Given the description of an element on the screen output the (x, y) to click on. 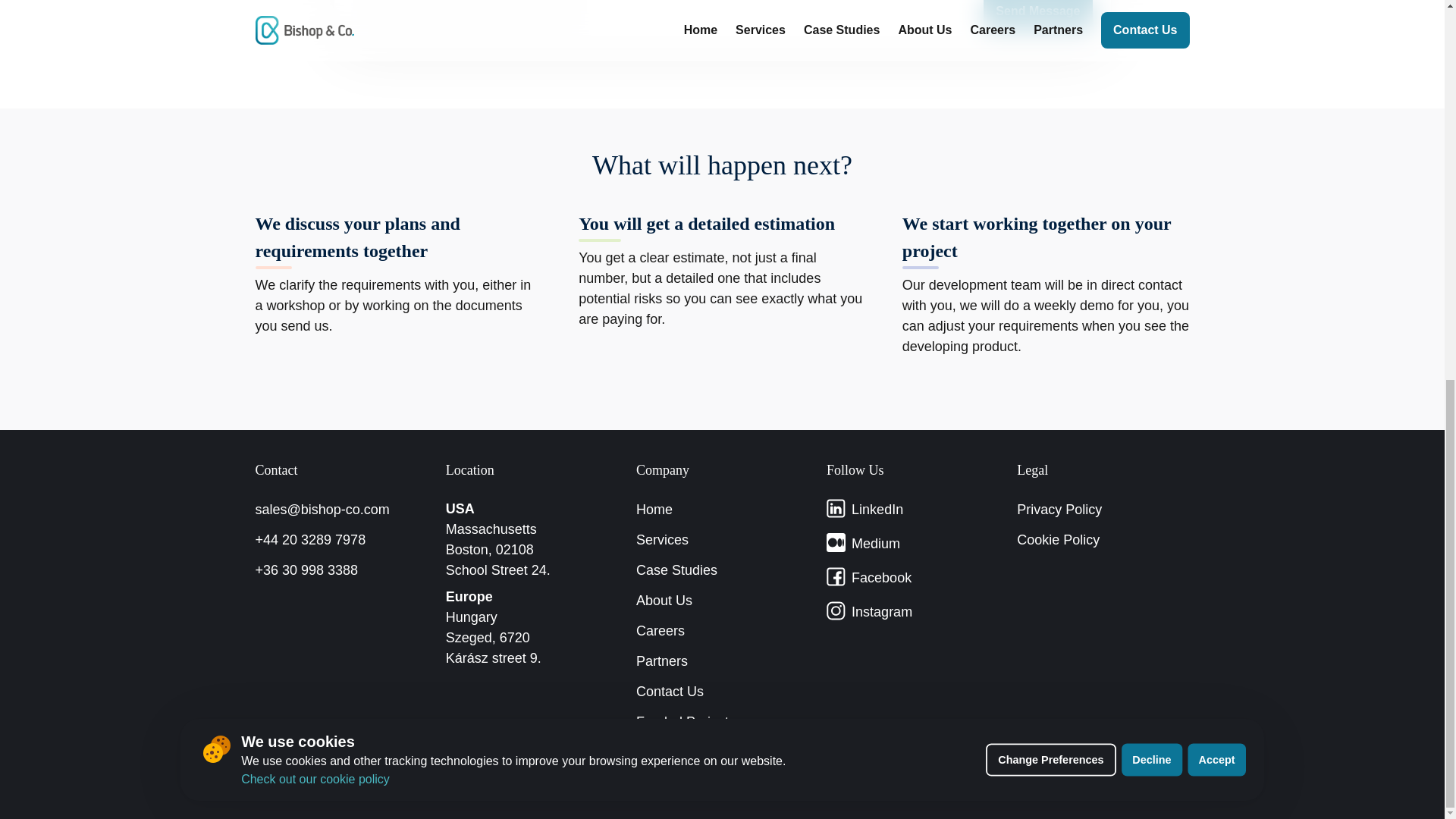
Services (662, 539)
Instagram (869, 611)
Link to our LinkedIn page (864, 509)
Cookie Policy (1057, 539)
Facebook (869, 577)
Check out our cookie policy (315, 73)
LinkedIn (864, 509)
About Us (664, 600)
Home (654, 509)
Link to our Instagram page (869, 611)
